Given the description of an element on the screen output the (x, y) to click on. 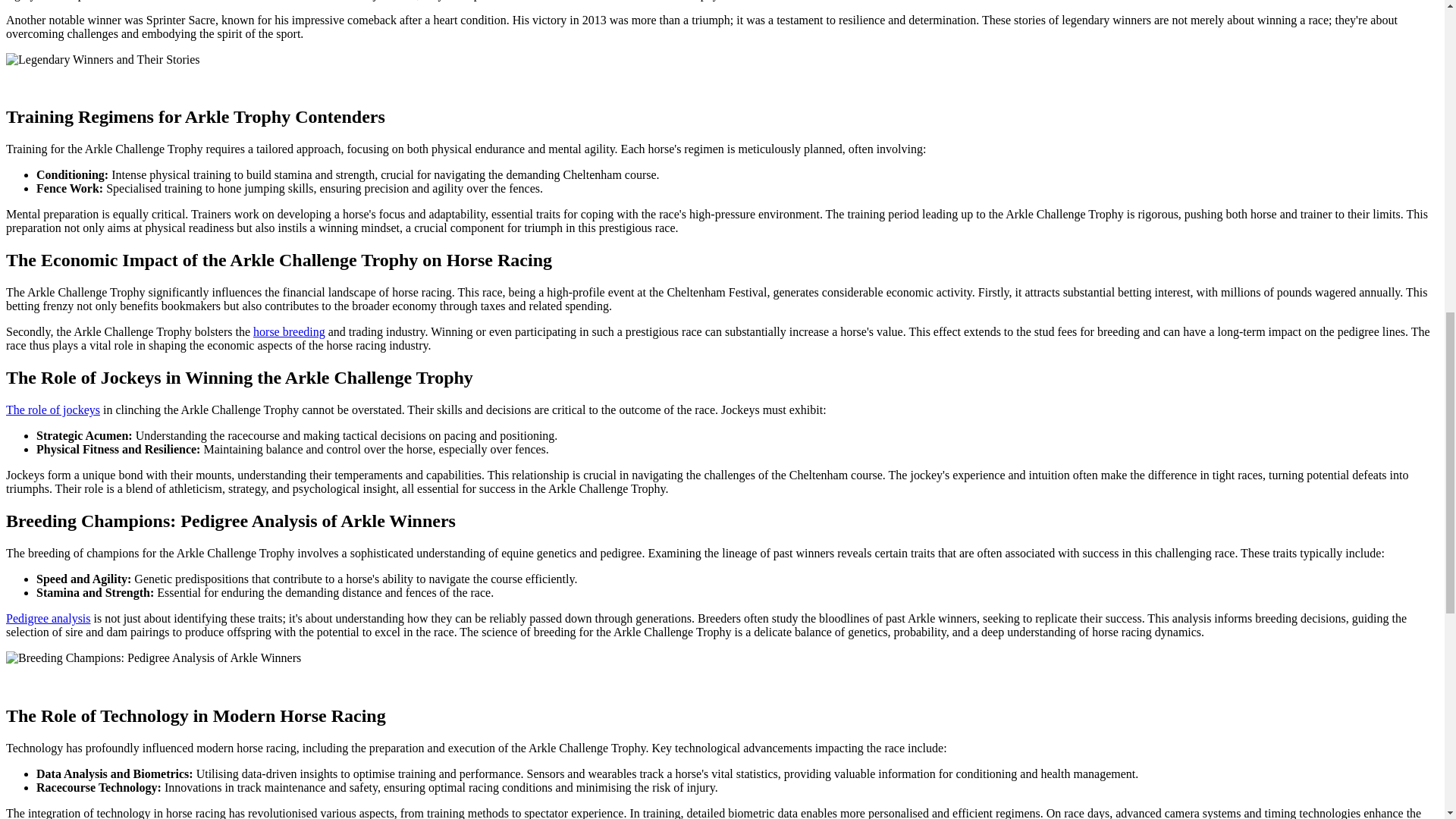
The role of jockeys (52, 409)
horse breeding (288, 331)
Pedigree analysis (47, 617)
